Given the description of an element on the screen output the (x, y) to click on. 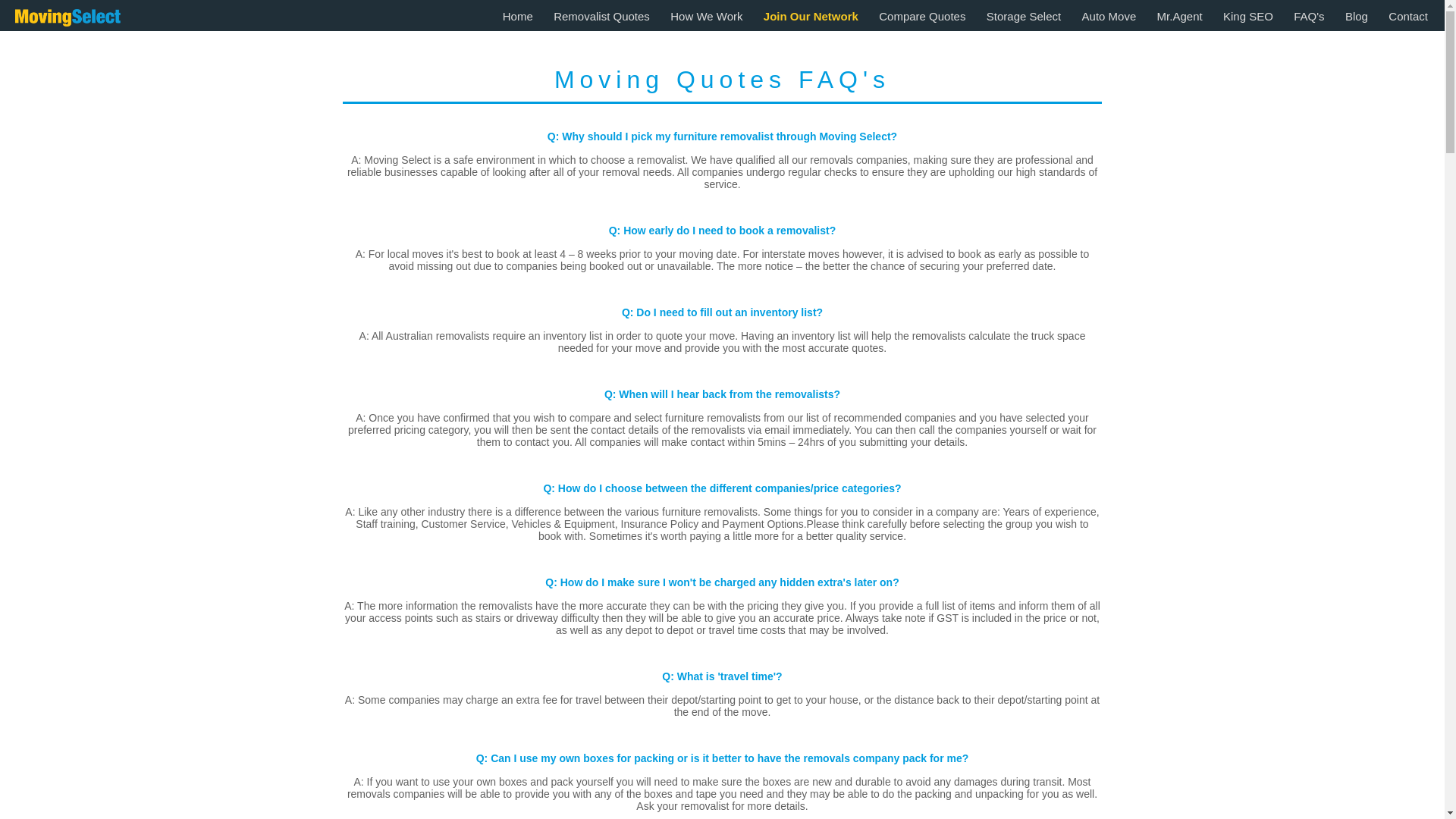
Home Element type: text (517, 15)
Compare Quotes Element type: text (921, 15)
Moving Select Element type: hover (67, 17)
Blog Element type: text (1356, 15)
Storage Select Element type: text (1023, 15)
King SEO Element type: text (1248, 15)
Contact Element type: text (1407, 15)
Join Our Network Element type: text (810, 15)
Auto Move Element type: text (1109, 15)
Mr.Agent Element type: text (1179, 15)
How We Work Element type: text (706, 15)
Removalist Quotes Element type: text (601, 15)
FAQ's Element type: text (1308, 15)
